Given the description of an element on the screen output the (x, y) to click on. 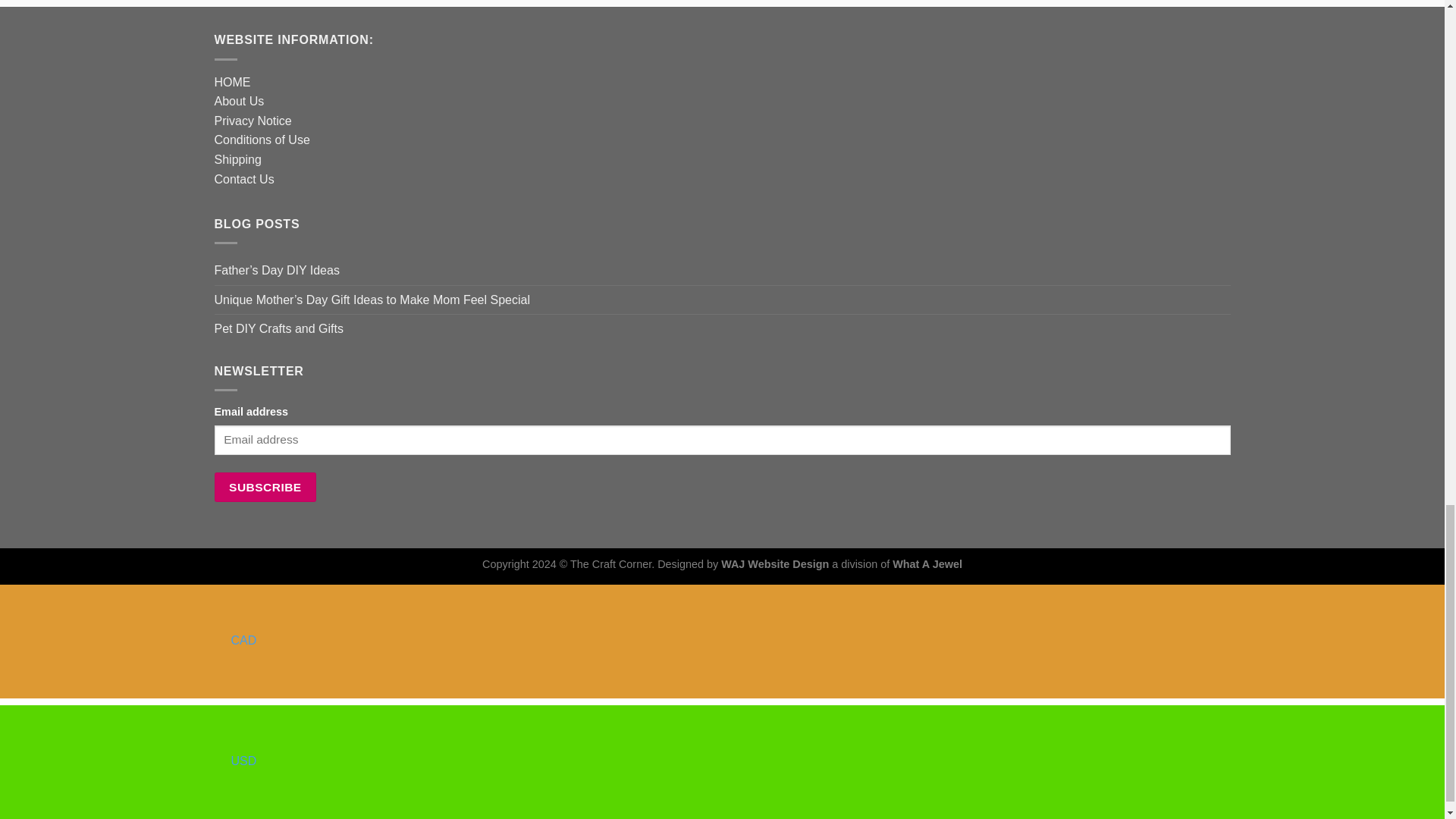
Subscribe (264, 487)
